Given the description of an element on the screen output the (x, y) to click on. 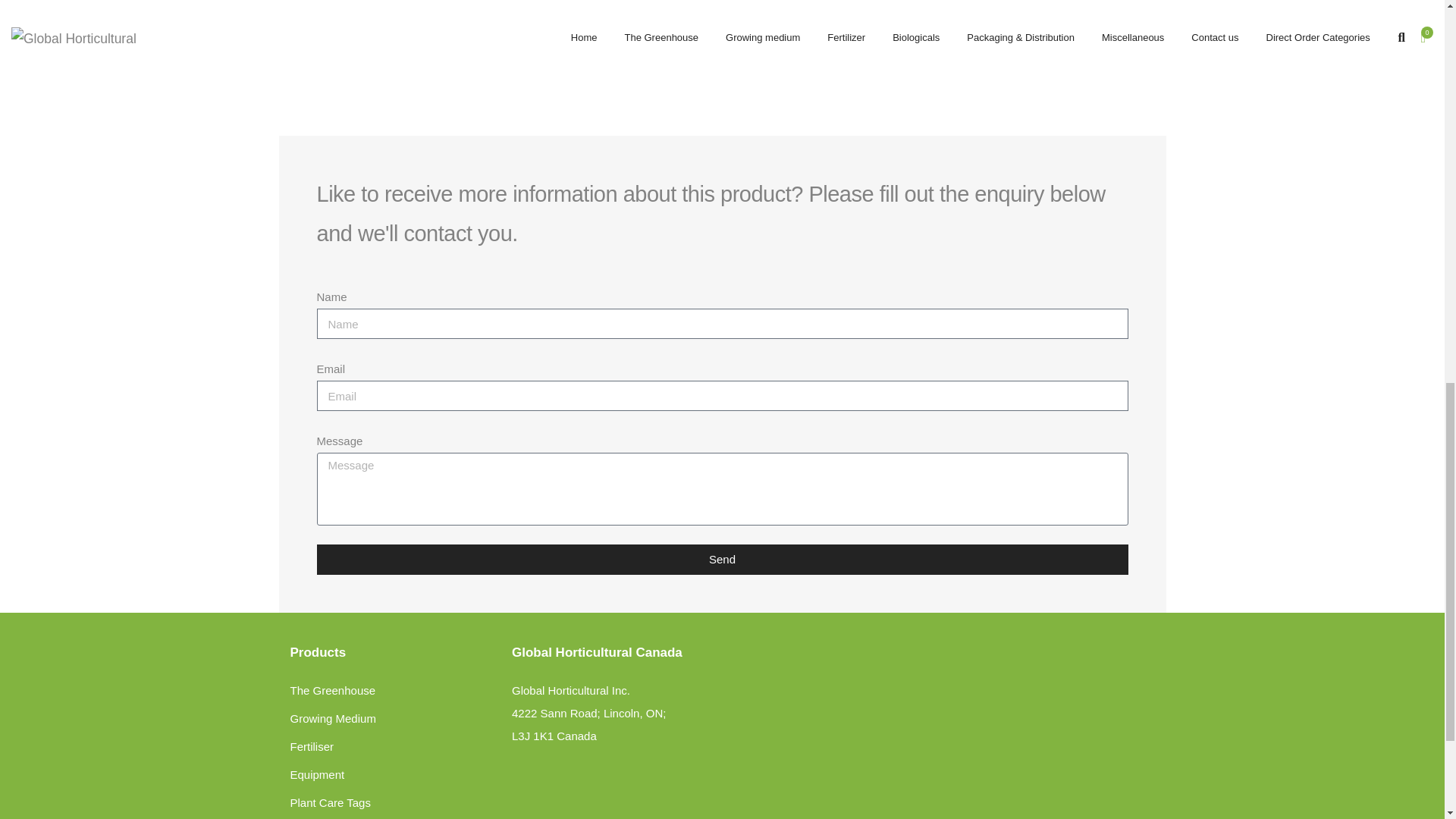
Growing Medium (332, 717)
Send (722, 559)
The Greenhouse (332, 689)
